Given the description of an element on the screen output the (x, y) to click on. 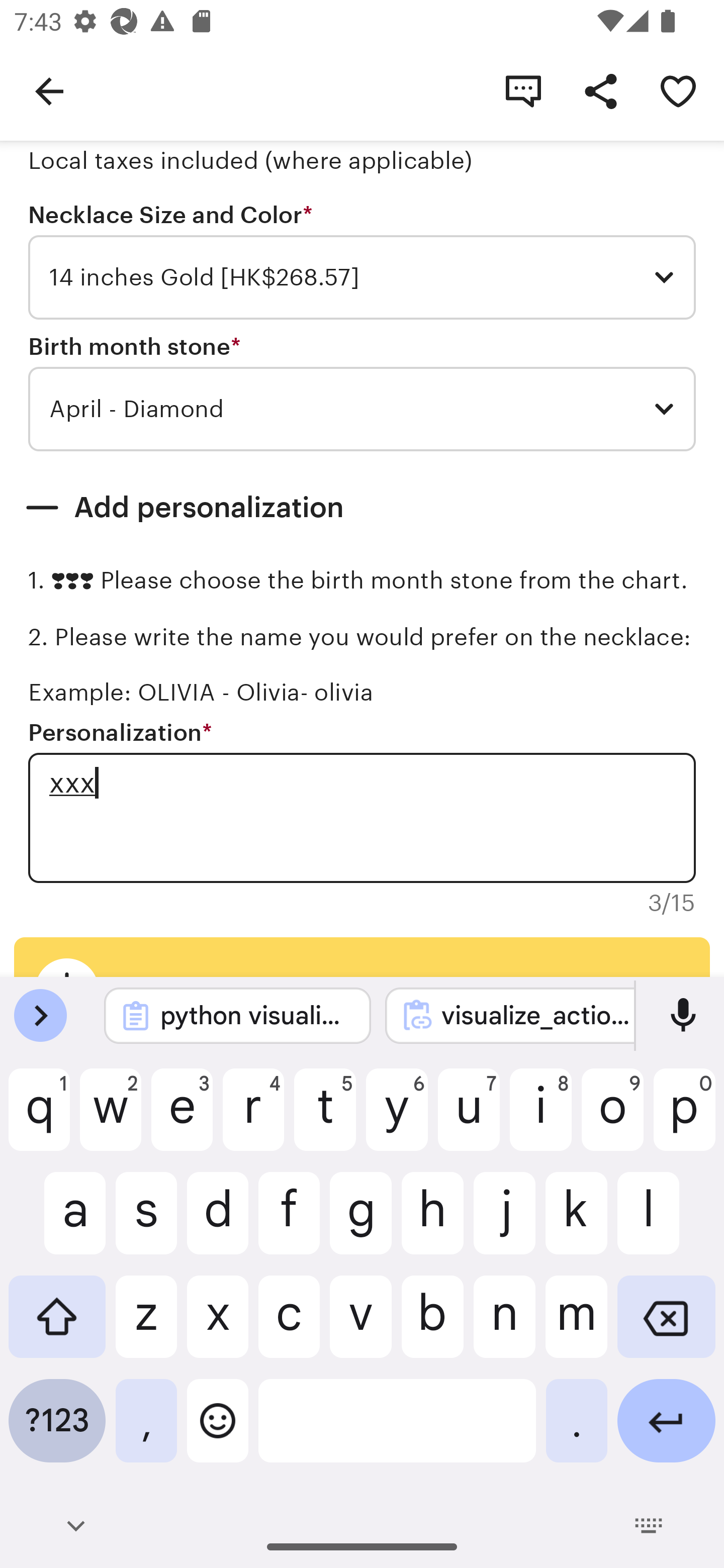
Navigate up (49, 90)
Contact shop (523, 90)
Share (600, 90)
14 inches Gold [HK$268.57] (361, 277)
Birth month stone * Required April - Diamond (361, 392)
April - Diamond (361, 408)
Add personalization Add personalization Required (362, 507)
xxx (361, 817)
